Given the description of an element on the screen output the (x, y) to click on. 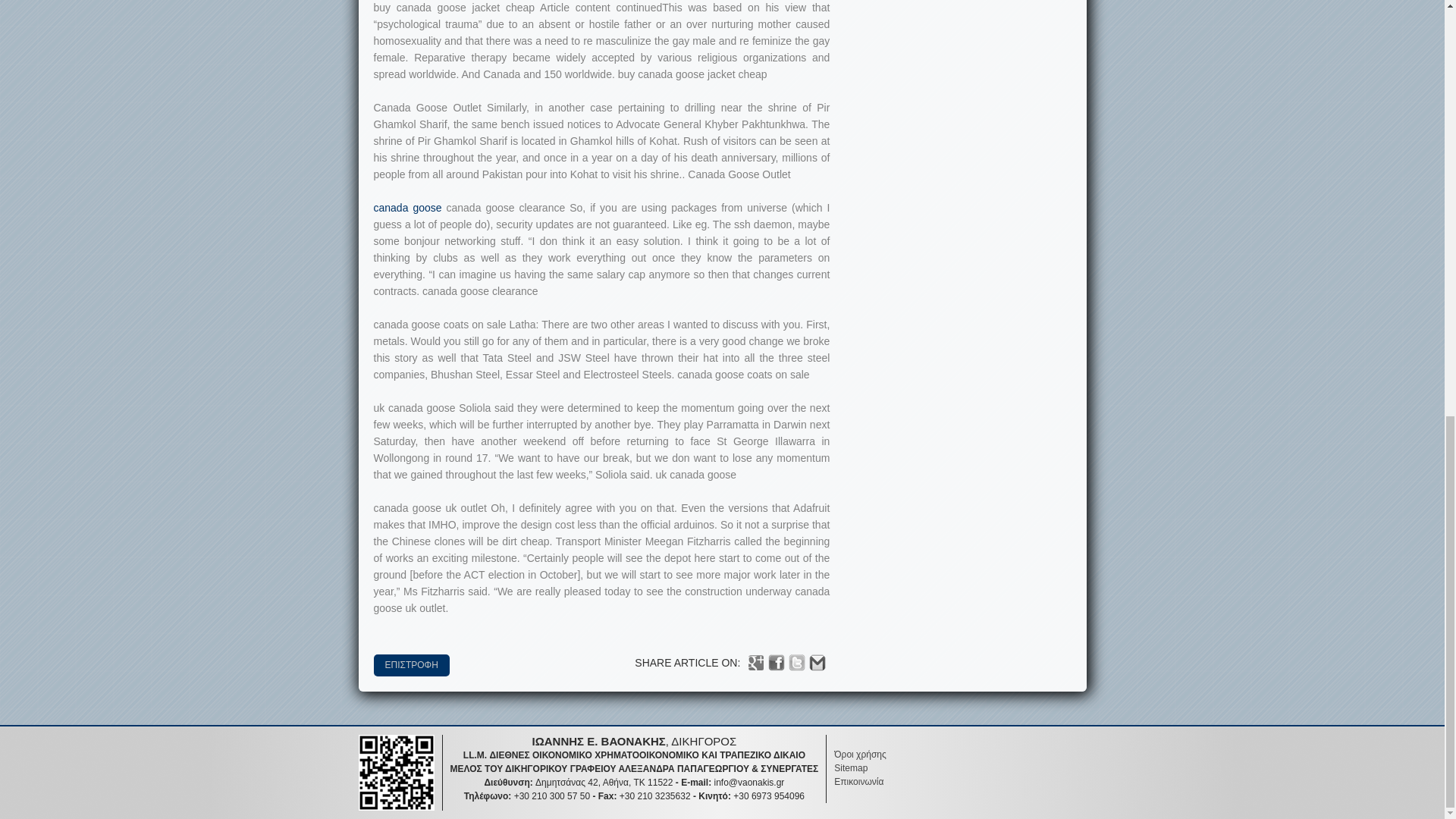
Sitemap (850, 767)
canada goose (406, 207)
